Given the description of an element on the screen output the (x, y) to click on. 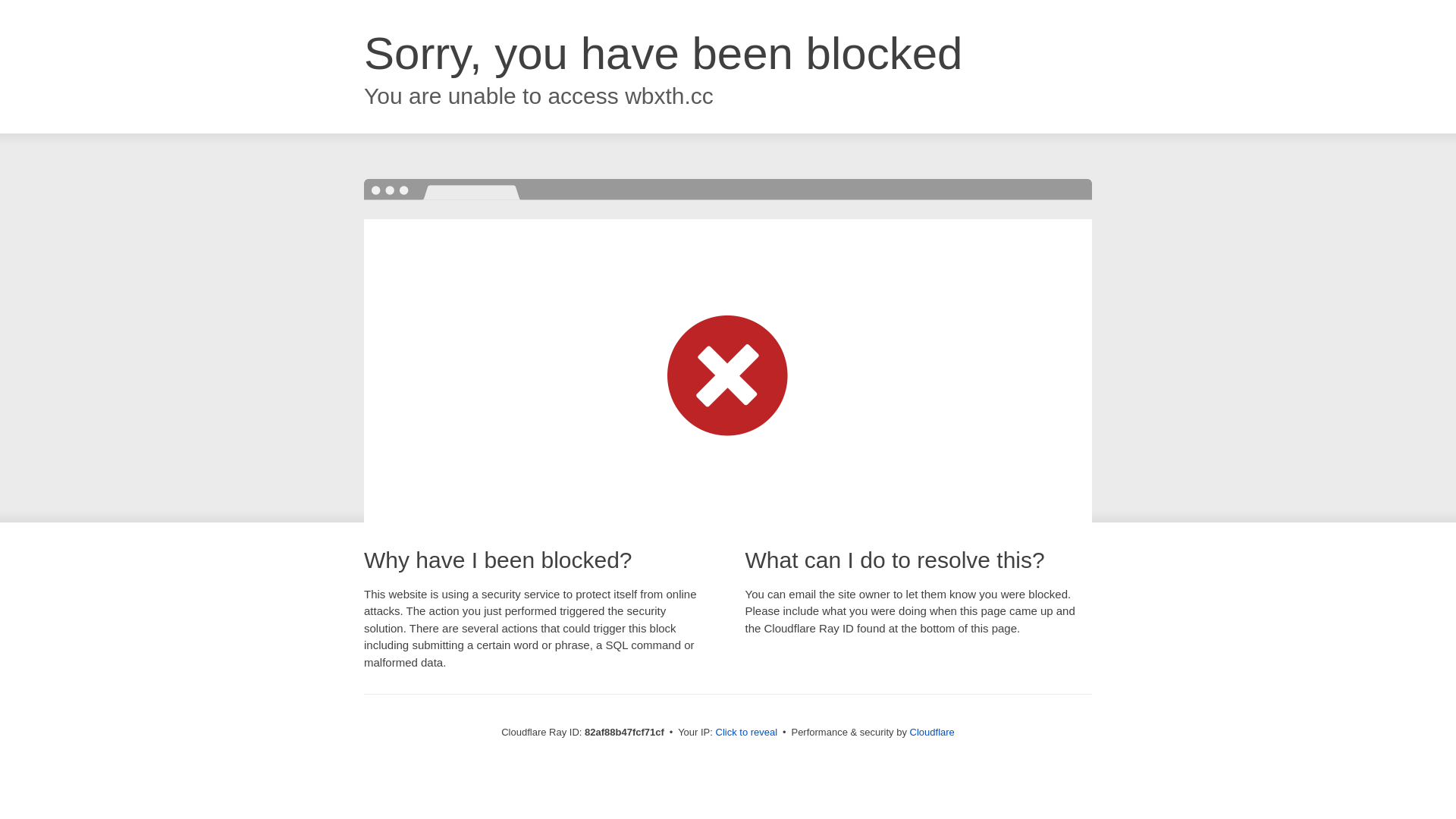
Cloudflare Element type: text (932, 731)
Click to reveal Element type: text (746, 732)
